Given the description of an element on the screen output the (x, y) to click on. 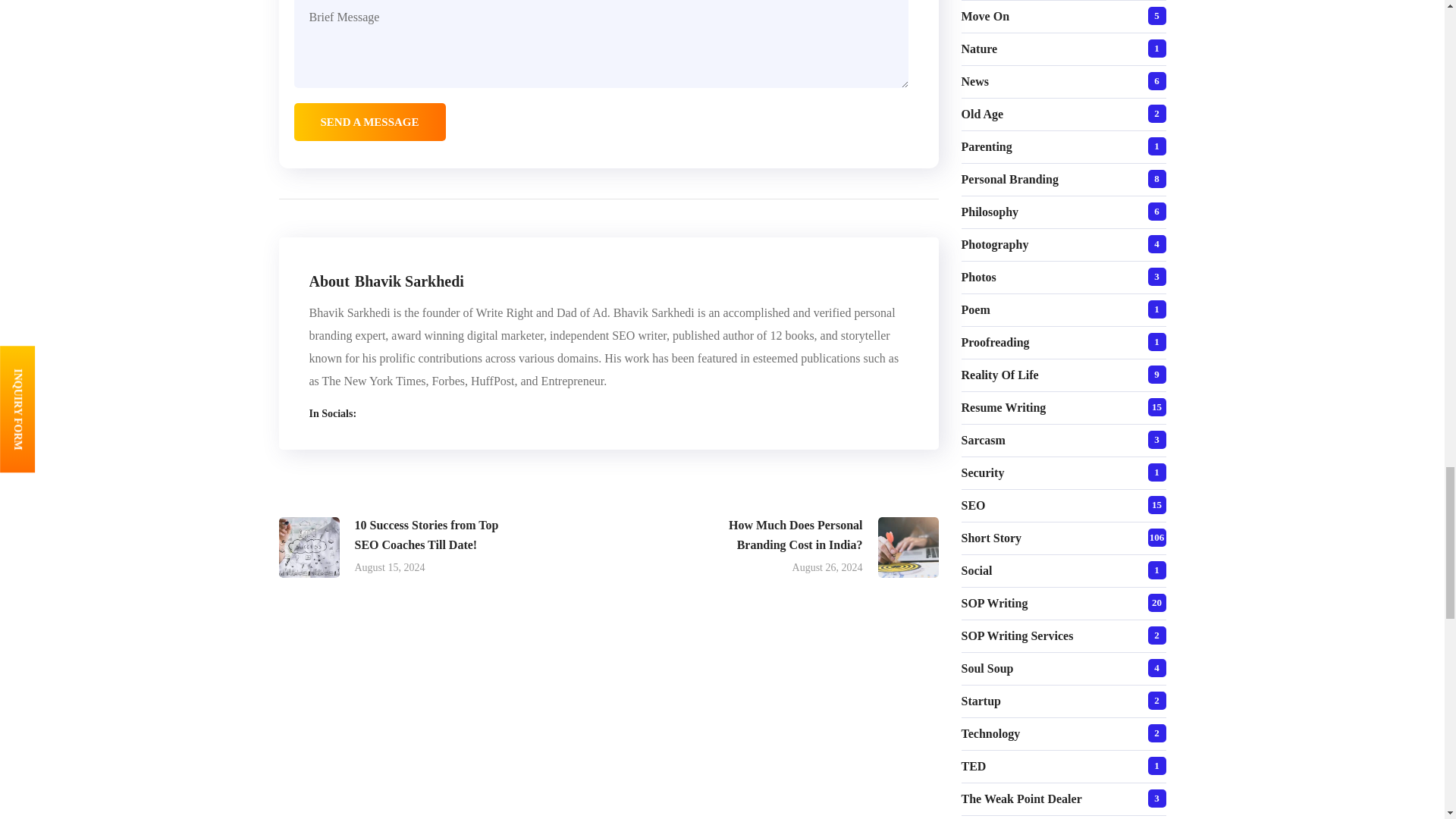
How Much Does Personal Branding Cost in India? (821, 547)
10 Success Stories from Top SEO Coaches Till Date! (396, 547)
SEND A MESSAGE (369, 121)
